Given the description of an element on the screen output the (x, y) to click on. 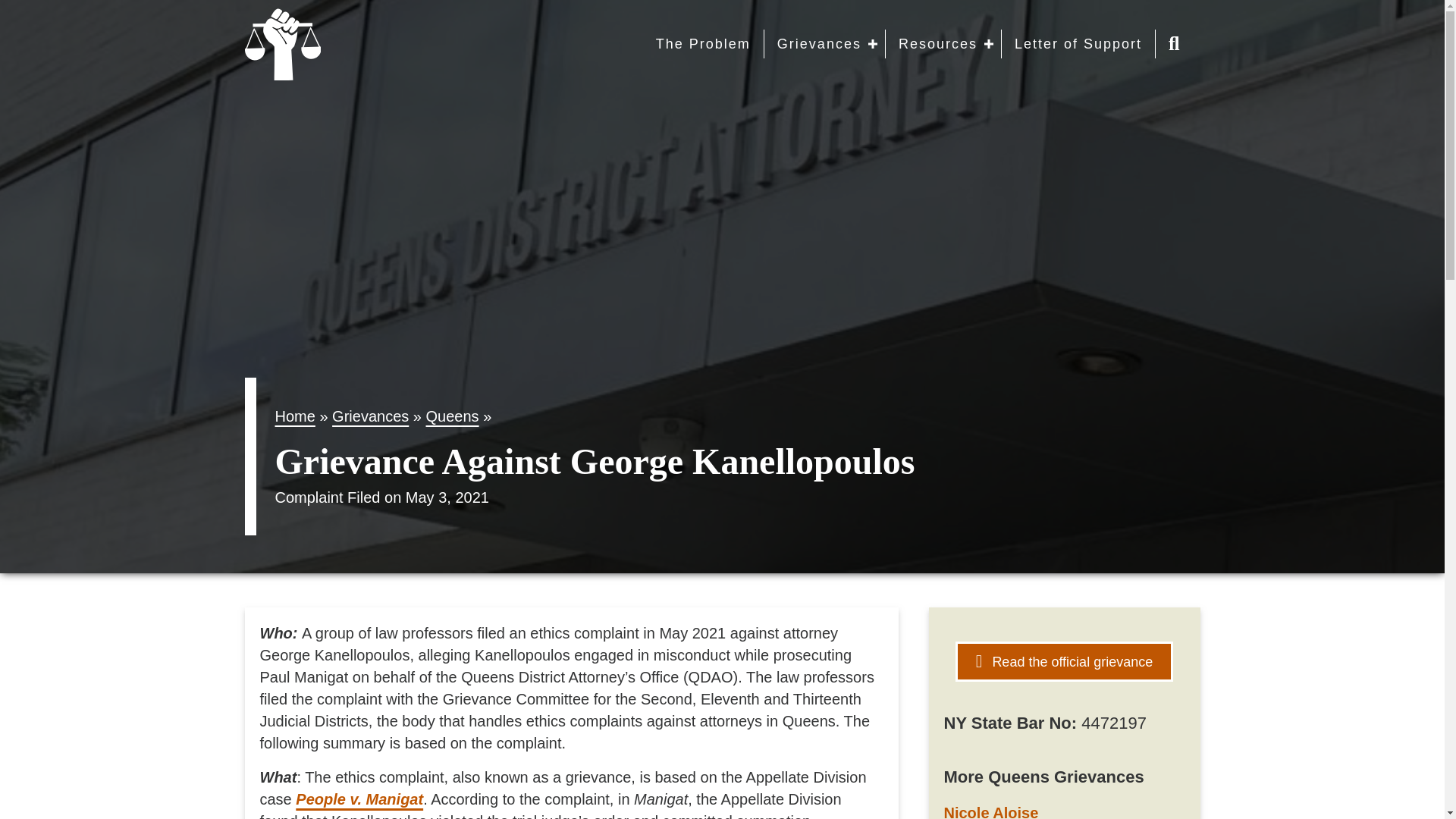
The Problem (1061, 43)
Letter of Support (1077, 43)
Resources (946, 43)
Nicole Aloise (990, 811)
Queens (452, 416)
Search (1177, 43)
Read the official grievance (1064, 661)
Grievances (1150, 43)
People v. Manigat (359, 799)
Home (294, 416)
Grievances (370, 416)
